Given the description of an element on the screen output the (x, y) to click on. 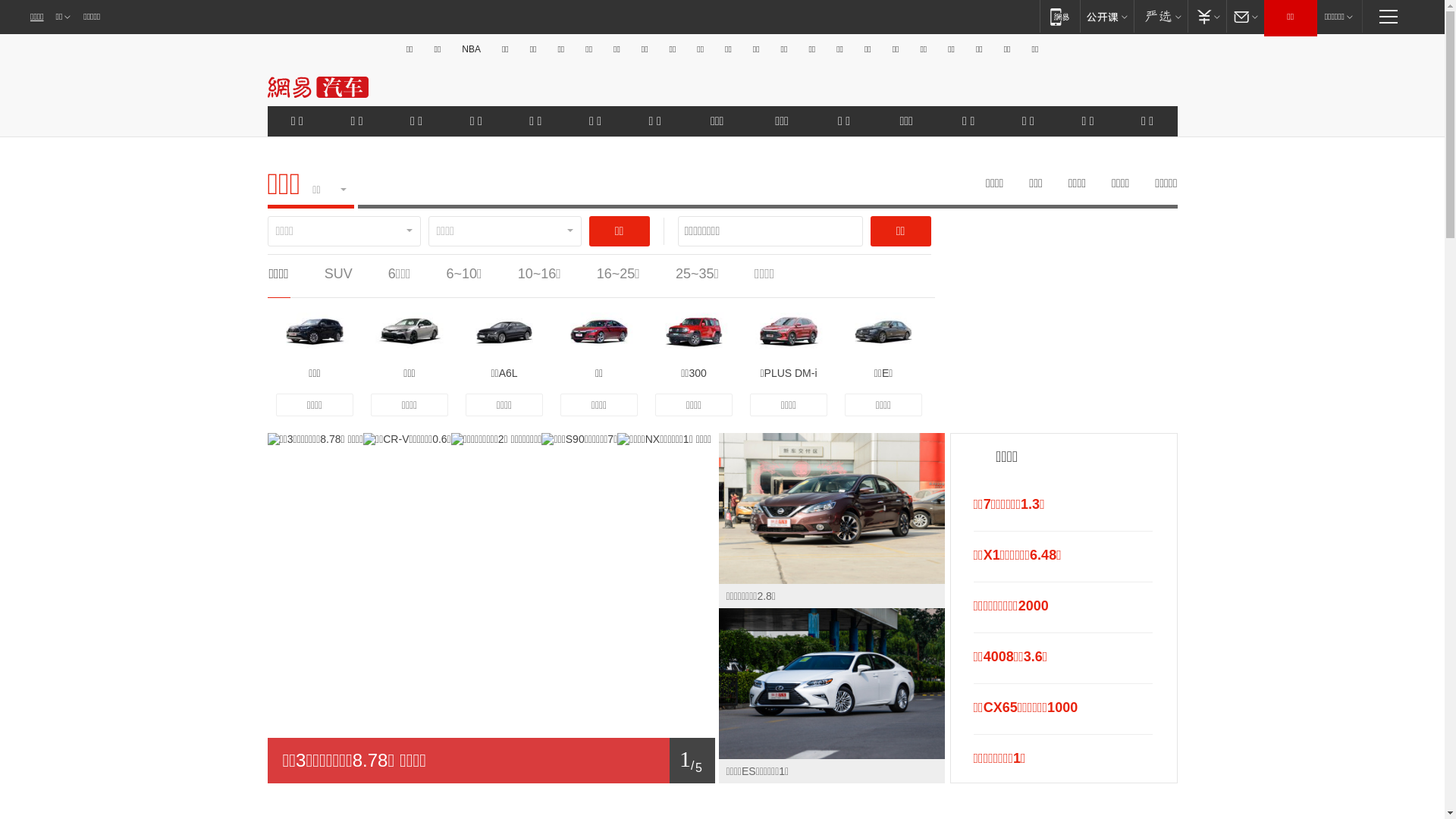
NBA Element type: text (471, 48)
SUV Element type: text (338, 273)
1/ 5 Element type: text (490, 760)
